Given the description of an element on the screen output the (x, y) to click on. 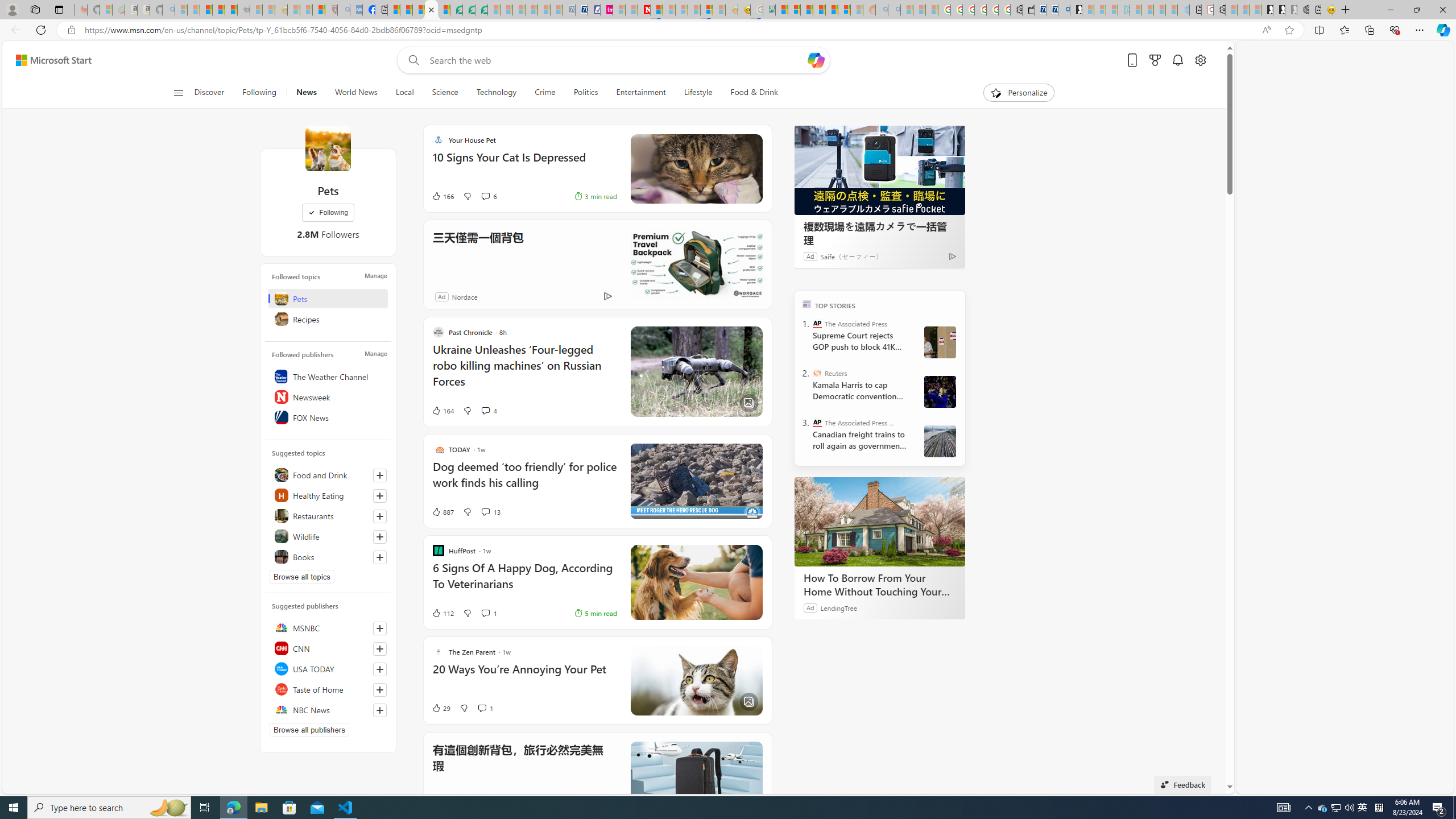
View comments 13 Comment (490, 512)
The Weather Channel - MSN (205, 9)
Personalize (1019, 92)
Recipes (327, 318)
